Given the description of an element on the screen output the (x, y) to click on. 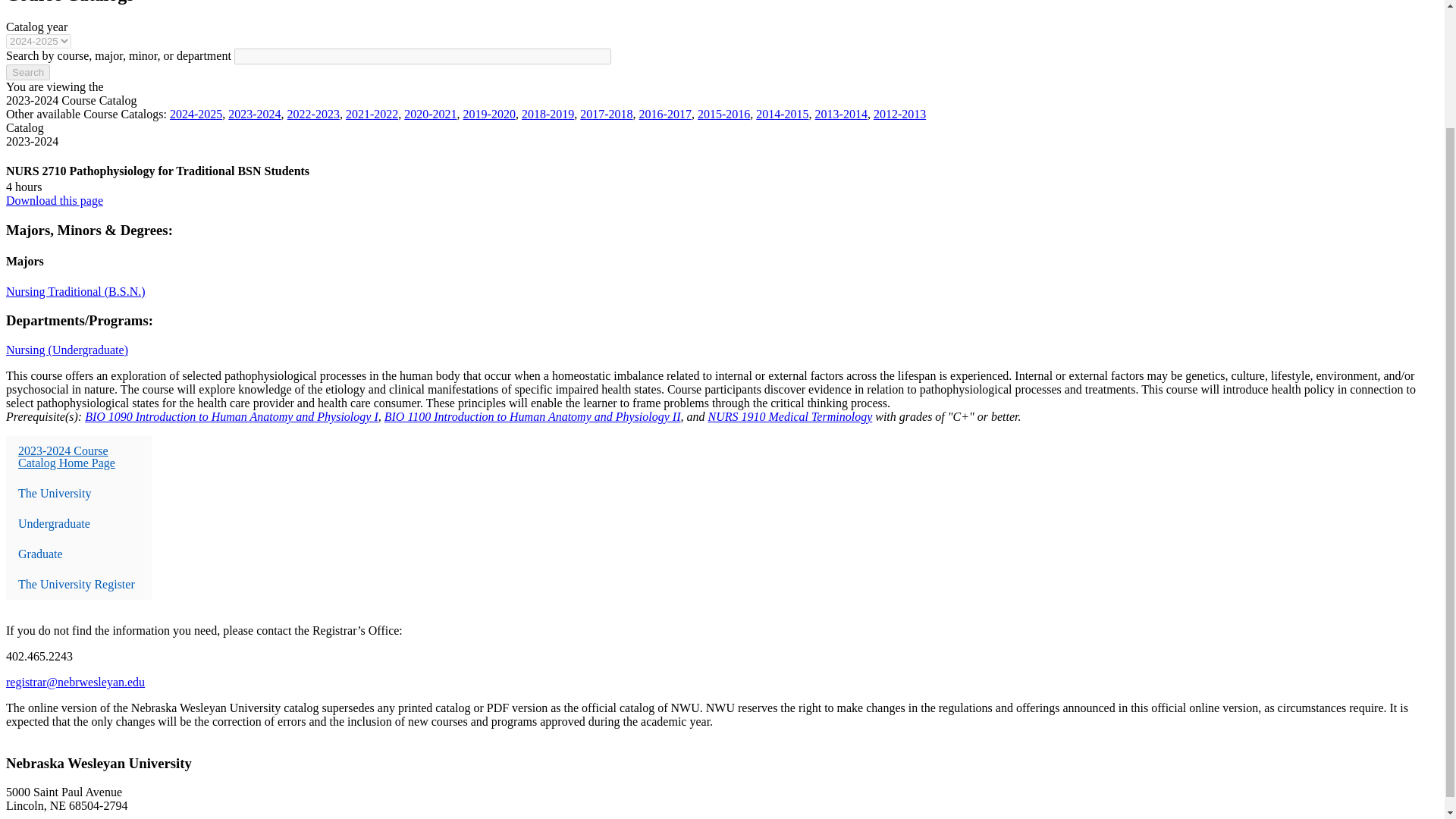
2015-2016 (723, 113)
2021-2022 (371, 113)
2022-2023 (312, 113)
2012-2013 (899, 113)
2018-2019 (547, 113)
2017-2018 (605, 113)
2016-2017 (665, 113)
2024-2025 (196, 113)
2019-2020 (489, 113)
Search (27, 72)
